Given the description of an element on the screen output the (x, y) to click on. 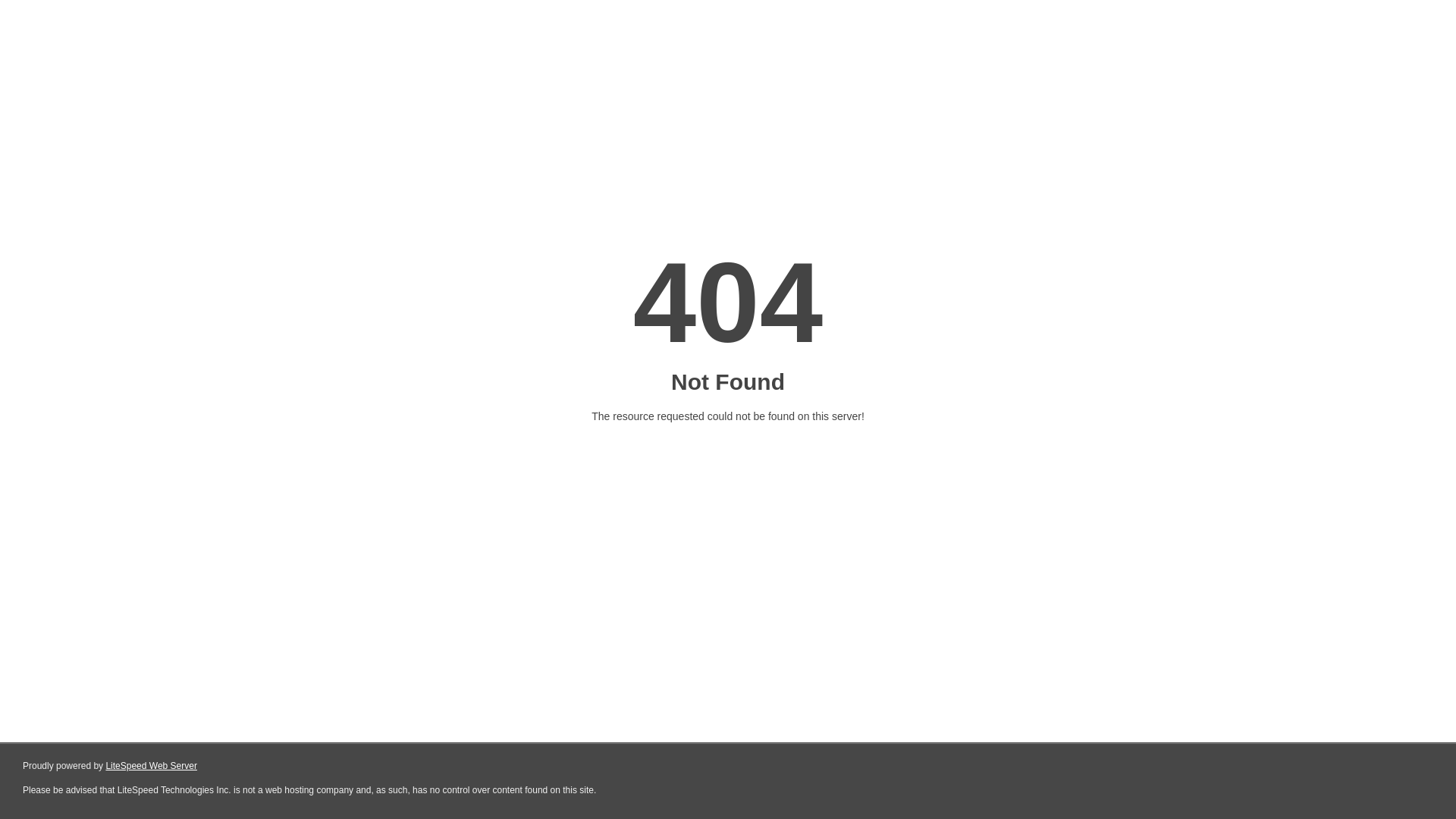
LiteSpeed Web Server Element type: text (151, 765)
